Given the description of an element on the screen output the (x, y) to click on. 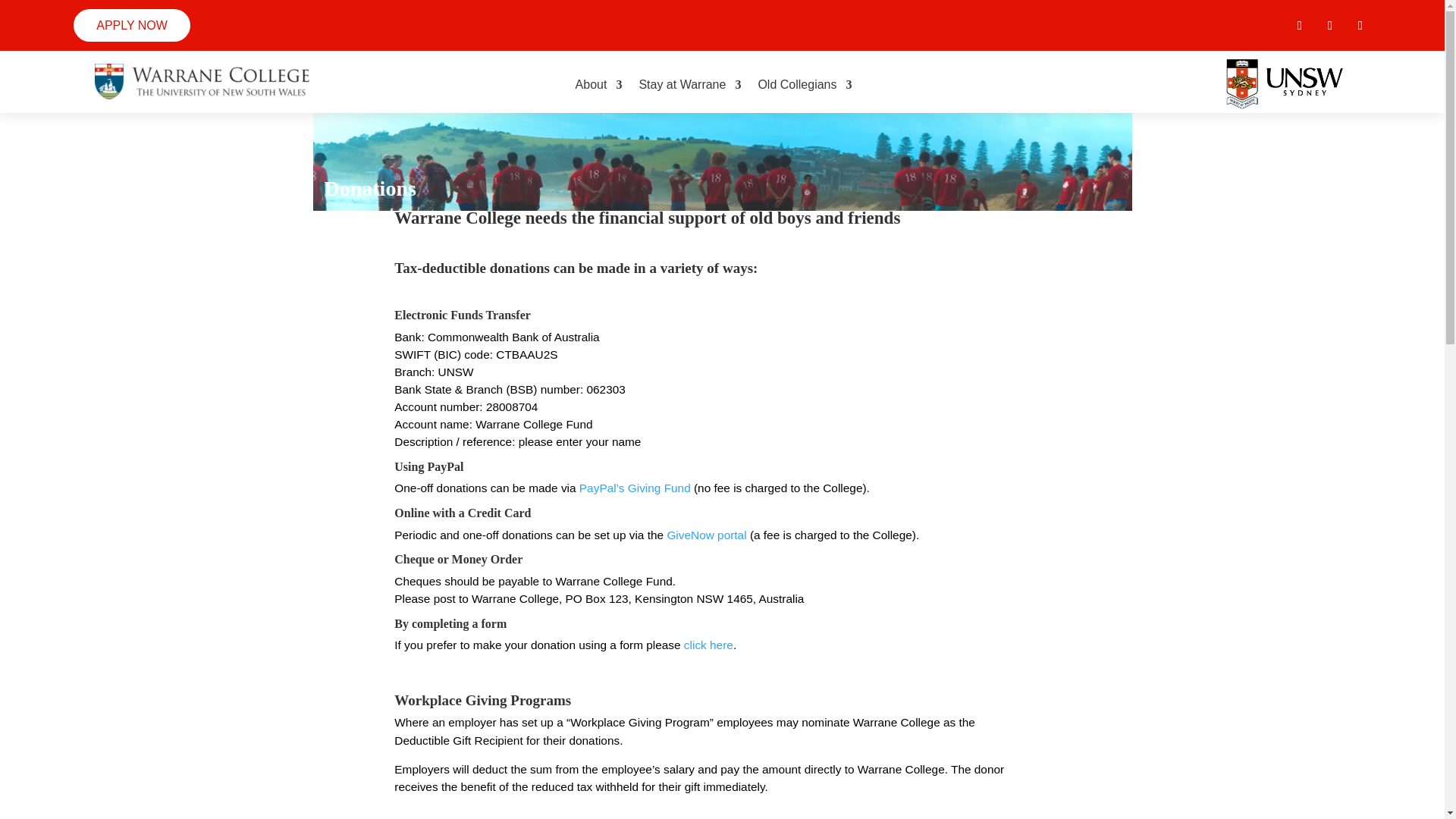
Stay at Warrane (690, 84)
APPLY NOW (131, 25)
Follow on Facebook (1299, 25)
Follow on LinkedIn (1329, 25)
Follow on Instagram (1360, 25)
